Given the description of an element on the screen output the (x, y) to click on. 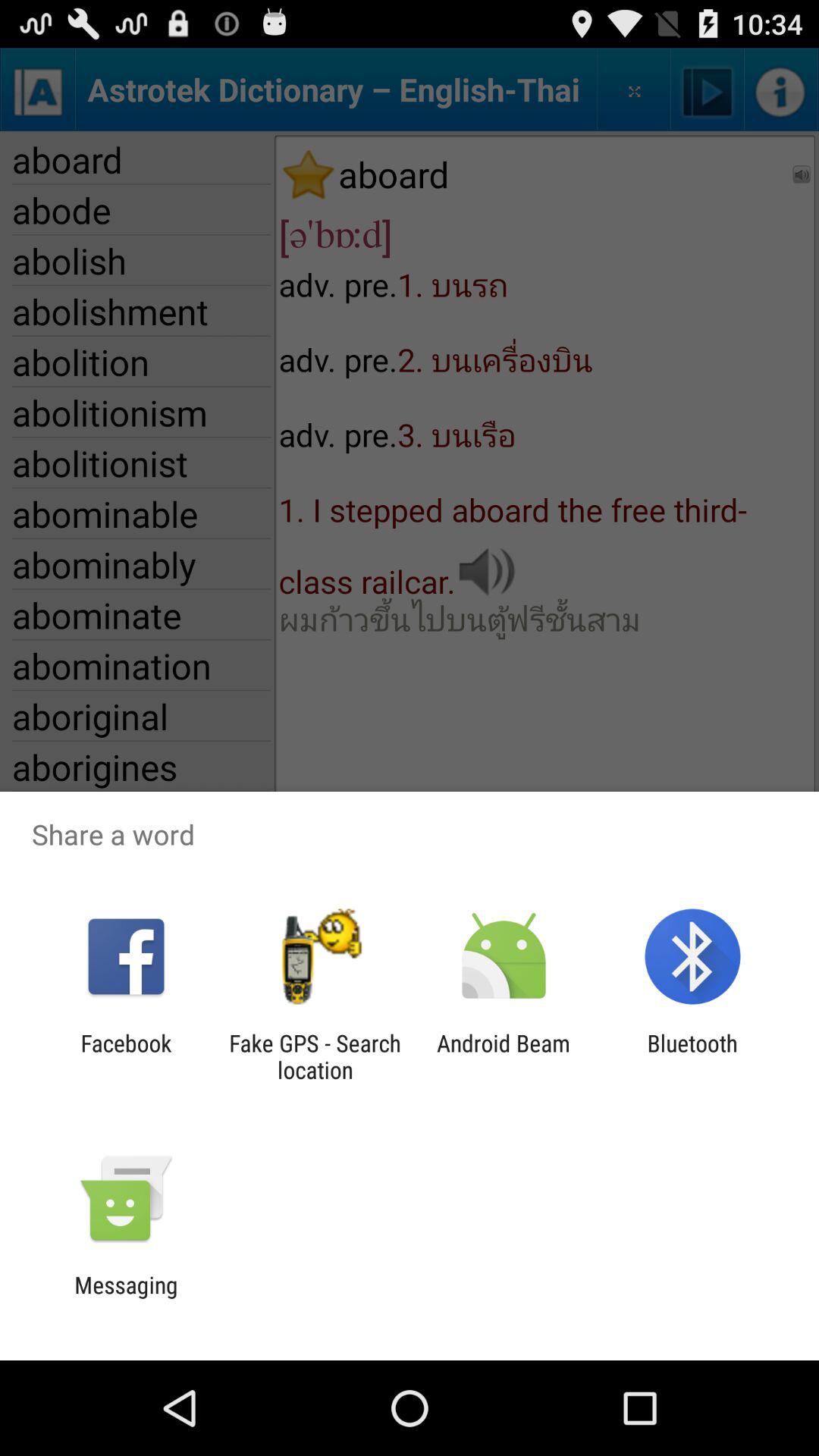
tap the android beam app (503, 1056)
